Given the description of an element on the screen output the (x, y) to click on. 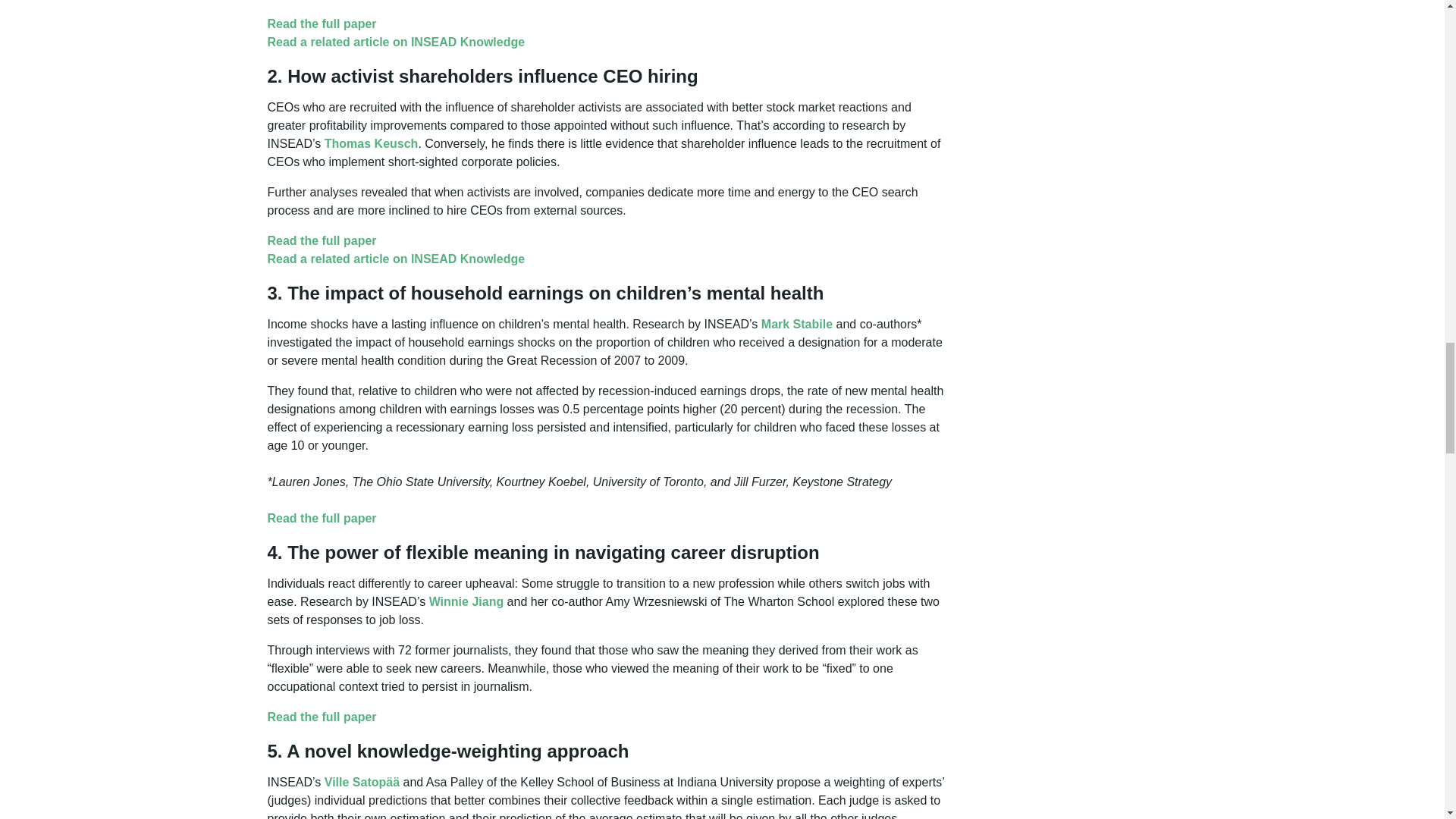
Thomas Keusch (371, 143)
Read a related article on INSEAD Knowledge (395, 42)
Read the full paper (320, 240)
Read the full paper (320, 23)
